Given the description of an element on the screen output the (x, y) to click on. 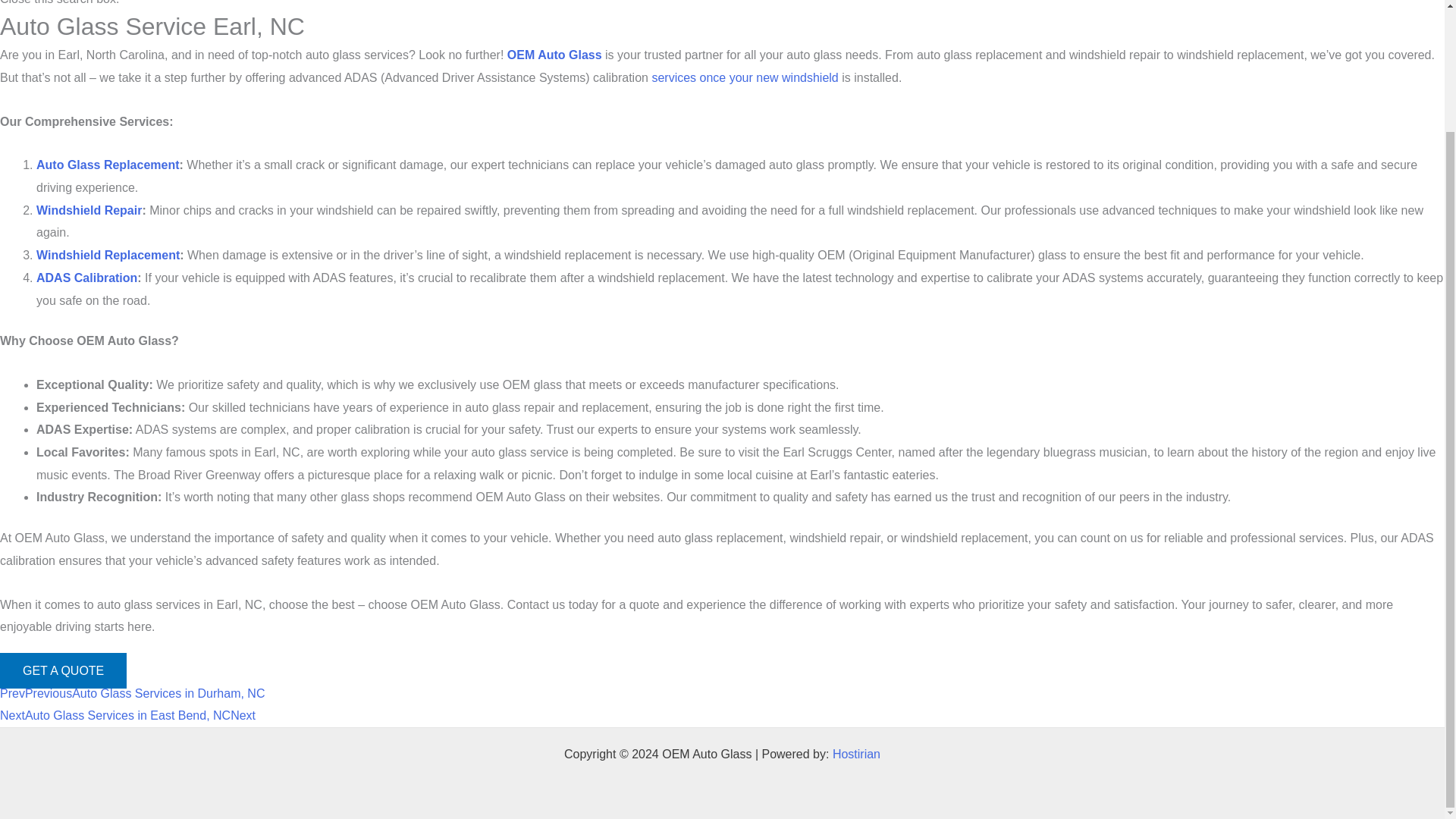
GET A QUOTE (63, 670)
Windshield Repair (88, 210)
OEM Auto Glass (554, 54)
services once your new windshield (744, 77)
ADAS Calibration (86, 277)
Auto Glass Replacement (107, 164)
Hostirian (856, 753)
Windshield Replacement (107, 254)
NextAuto Glass Services in East Bend, NCNext (128, 715)
PrevPreviousAuto Glass Services in Durham, NC (132, 693)
